Given the description of an element on the screen output the (x, y) to click on. 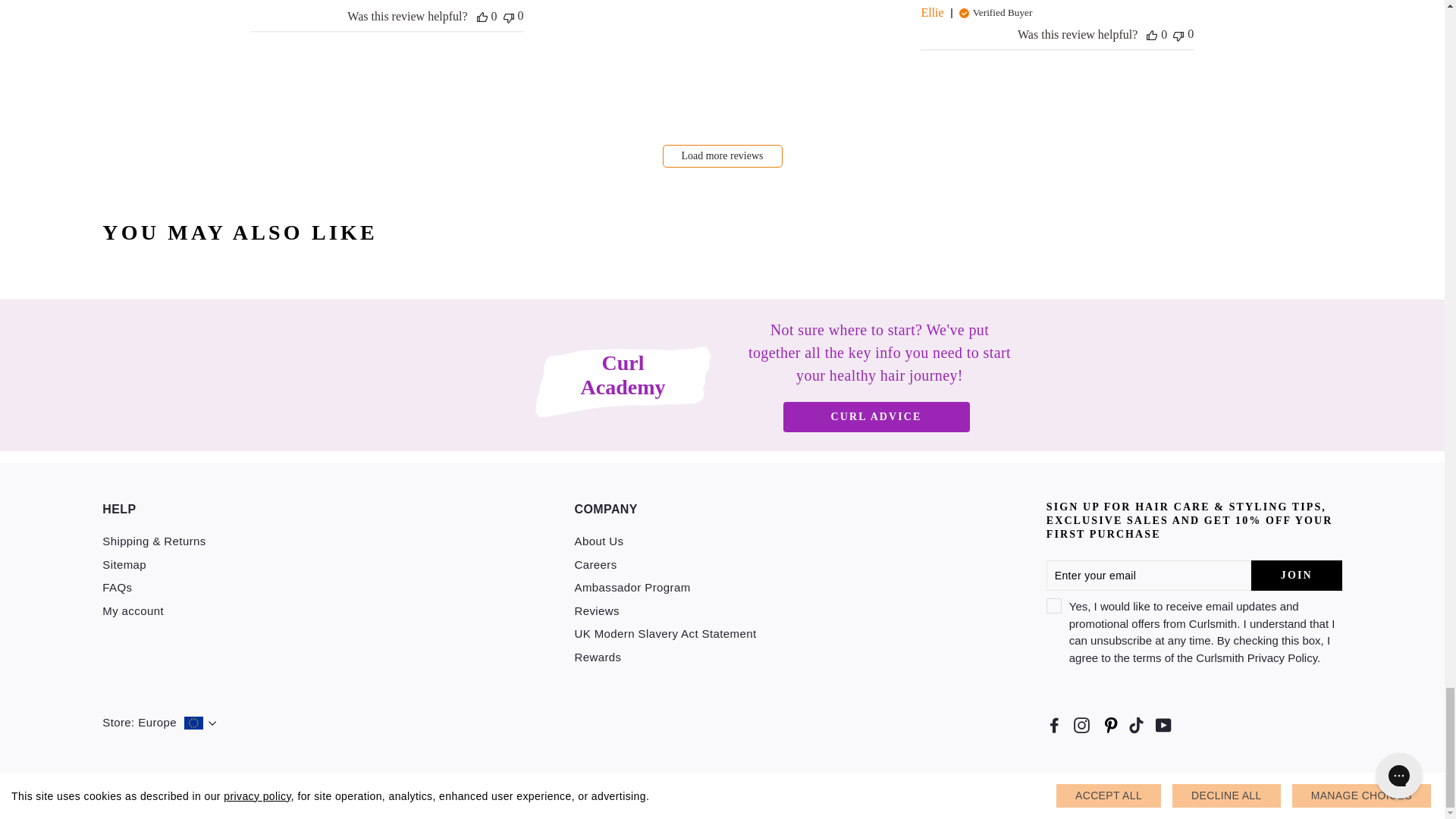
on (1053, 605)
